Given the description of an element on the screen output the (x, y) to click on. 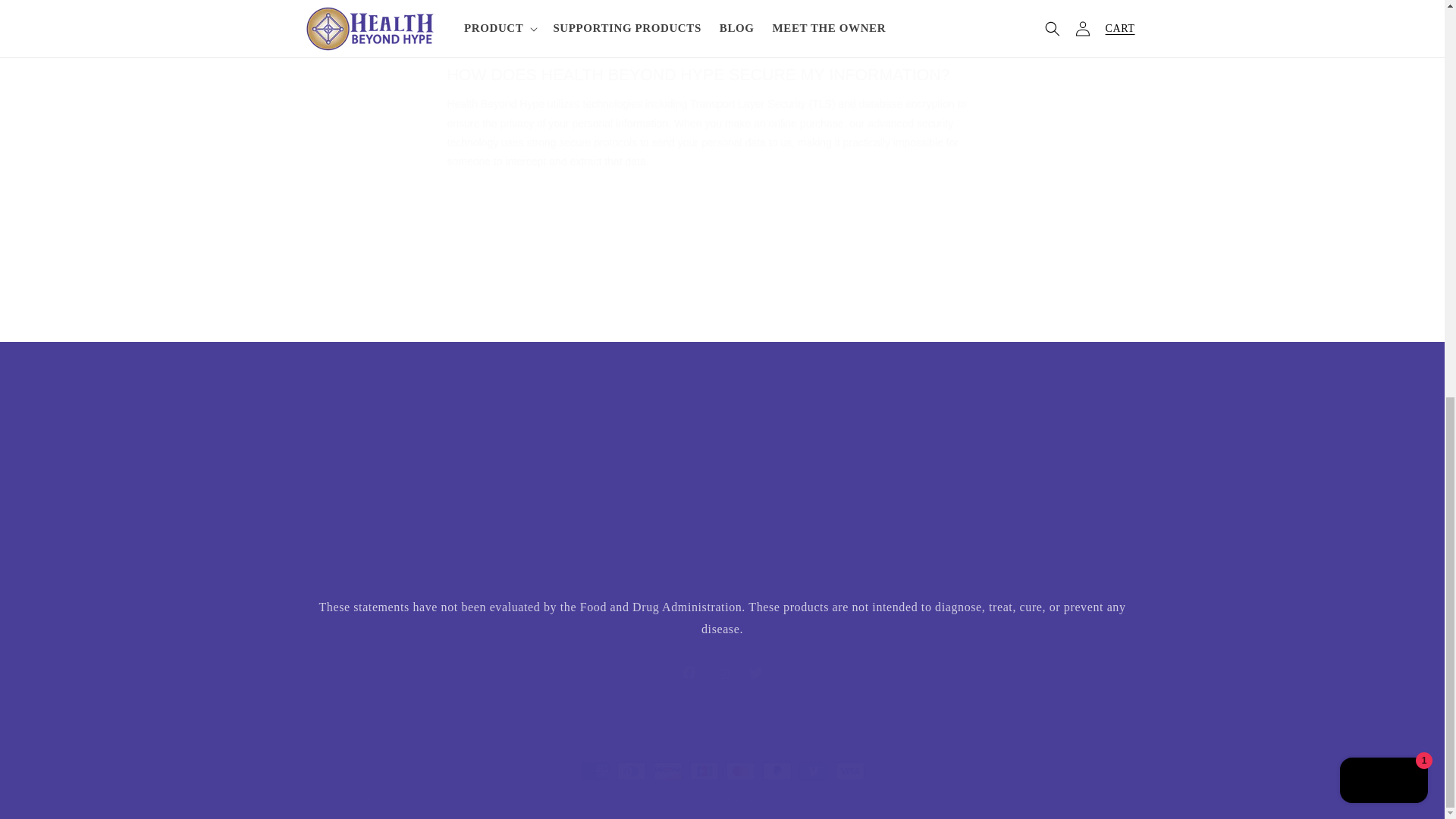
Privacy policy (901, 448)
Learn More (721, 672)
Search (613, 552)
Supporting Products (601, 473)
Meet the Founder (633, 526)
Get in touch (350, 513)
Refund Policy (334, 479)
Home (900, 473)
HBH Products (600, 448)
Terms of Service (619, 499)
Meet the Owner (907, 526)
Shopify online store chat (350, 513)
